Given the description of an element on the screen output the (x, y) to click on. 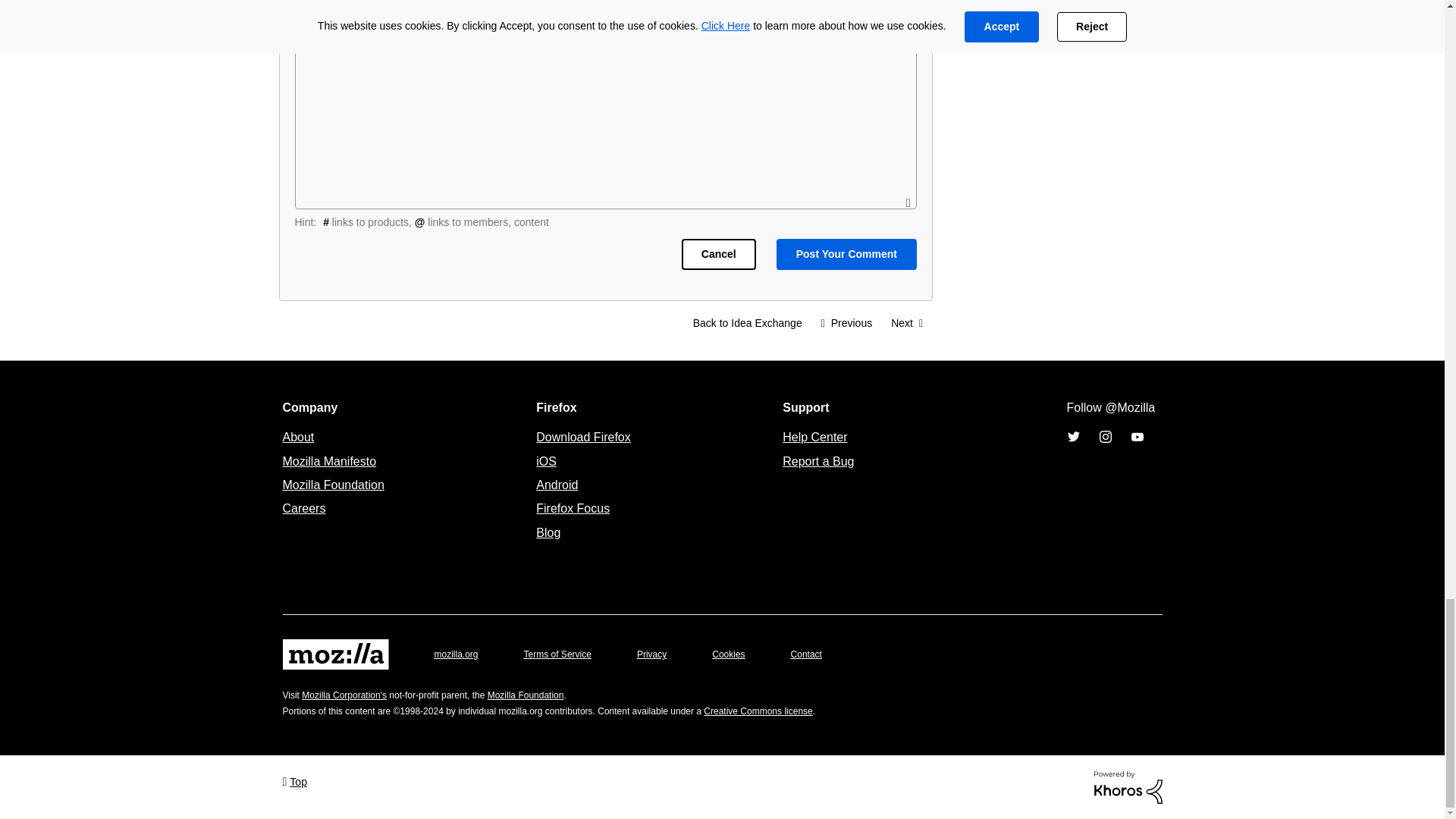
Top (293, 780)
Top (293, 780)
Post Your Comment (846, 254)
Cancel (718, 254)
